Given the description of an element on the screen output the (x, y) to click on. 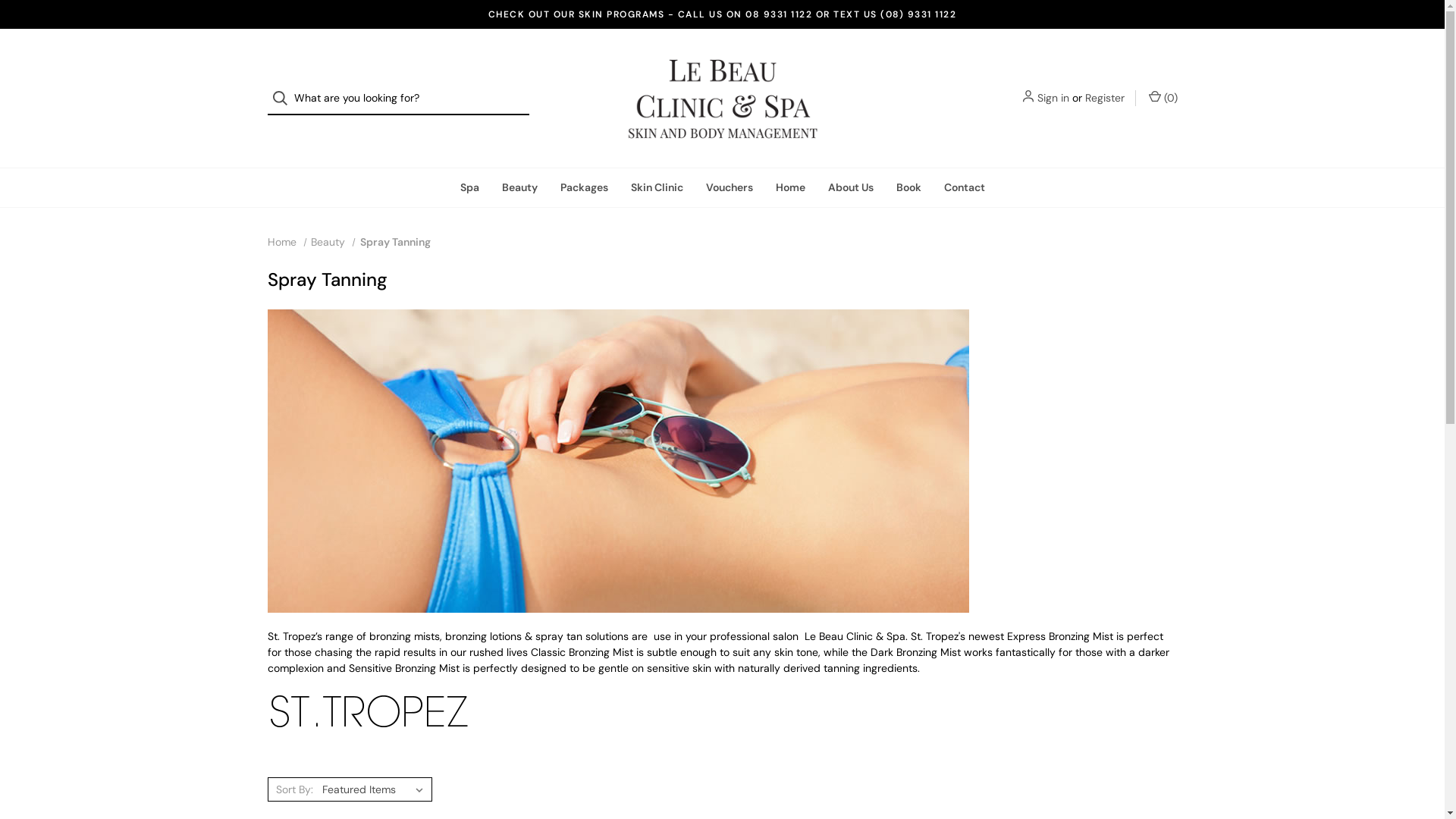
Home Element type: text (280, 241)
Book Element type: text (907, 187)
Spa Element type: text (469, 187)
Sign in Element type: text (1053, 98)
Register Element type: text (1103, 98)
(0) Element type: text (1161, 98)
Le Beau Spray Tanning Perth  Element type: hover (617, 460)
Skin Clinic Element type: text (655, 187)
Le Beau Clinic & Spa Perth Element type: hover (721, 97)
Vouchers Element type: text (729, 187)
Beauty Element type: text (327, 241)
Beauty Element type: text (518, 187)
Home Element type: text (790, 187)
st-tropez-self-tan.png Element type: hover (368, 710)
Packages Element type: text (584, 187)
Contact Element type: text (964, 187)
About Us Element type: text (849, 187)
